Given the description of an element on the screen output the (x, y) to click on. 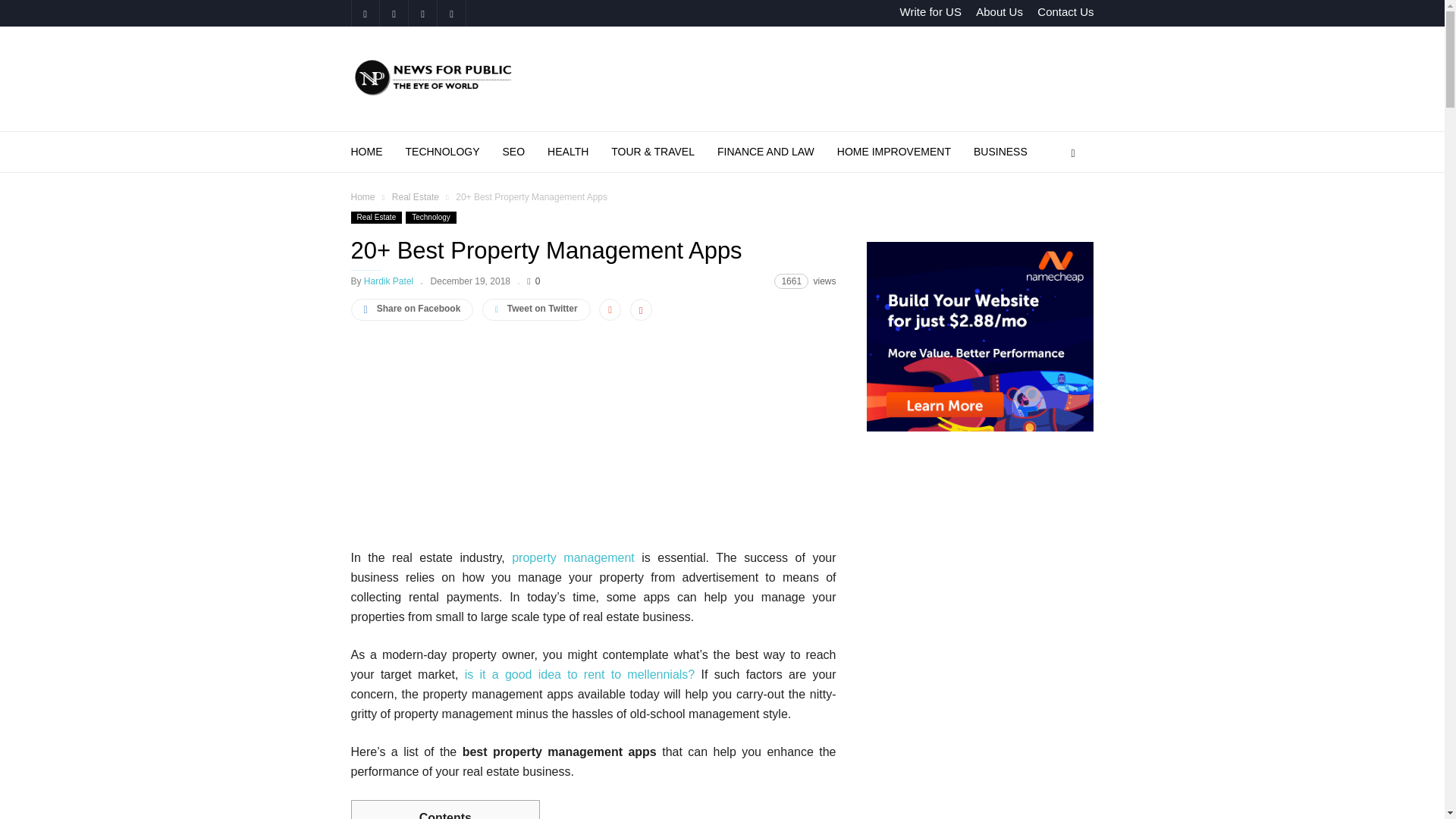
Write for US (929, 11)
FINANCE AND LAW (777, 151)
BUSINESS (1000, 151)
About Us (999, 11)
HEALTH (579, 151)
HOME IMPROVEMENT (905, 151)
Facebook (364, 13)
Contact Us (1064, 11)
View all posts in Real Estate (415, 196)
RSS (421, 13)
TECHNOLOGY (453, 151)
Twitter (450, 13)
SEO (525, 151)
Pinterest (392, 13)
HOME (377, 151)
